Given the description of an element on the screen output the (x, y) to click on. 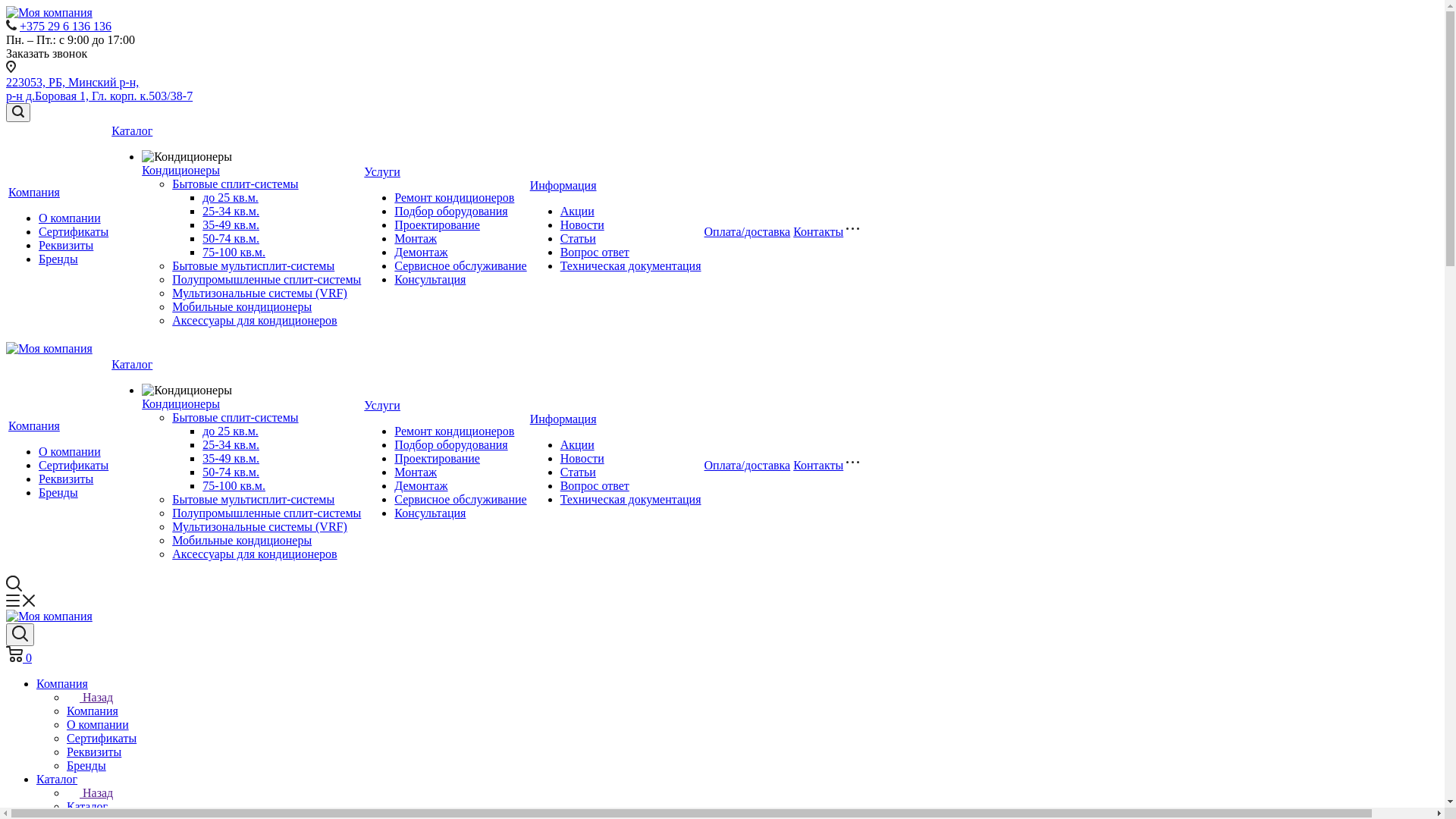
+375 29 6 136 136 Element type: text (65, 25)
